Given the description of an element on the screen output the (x, y) to click on. 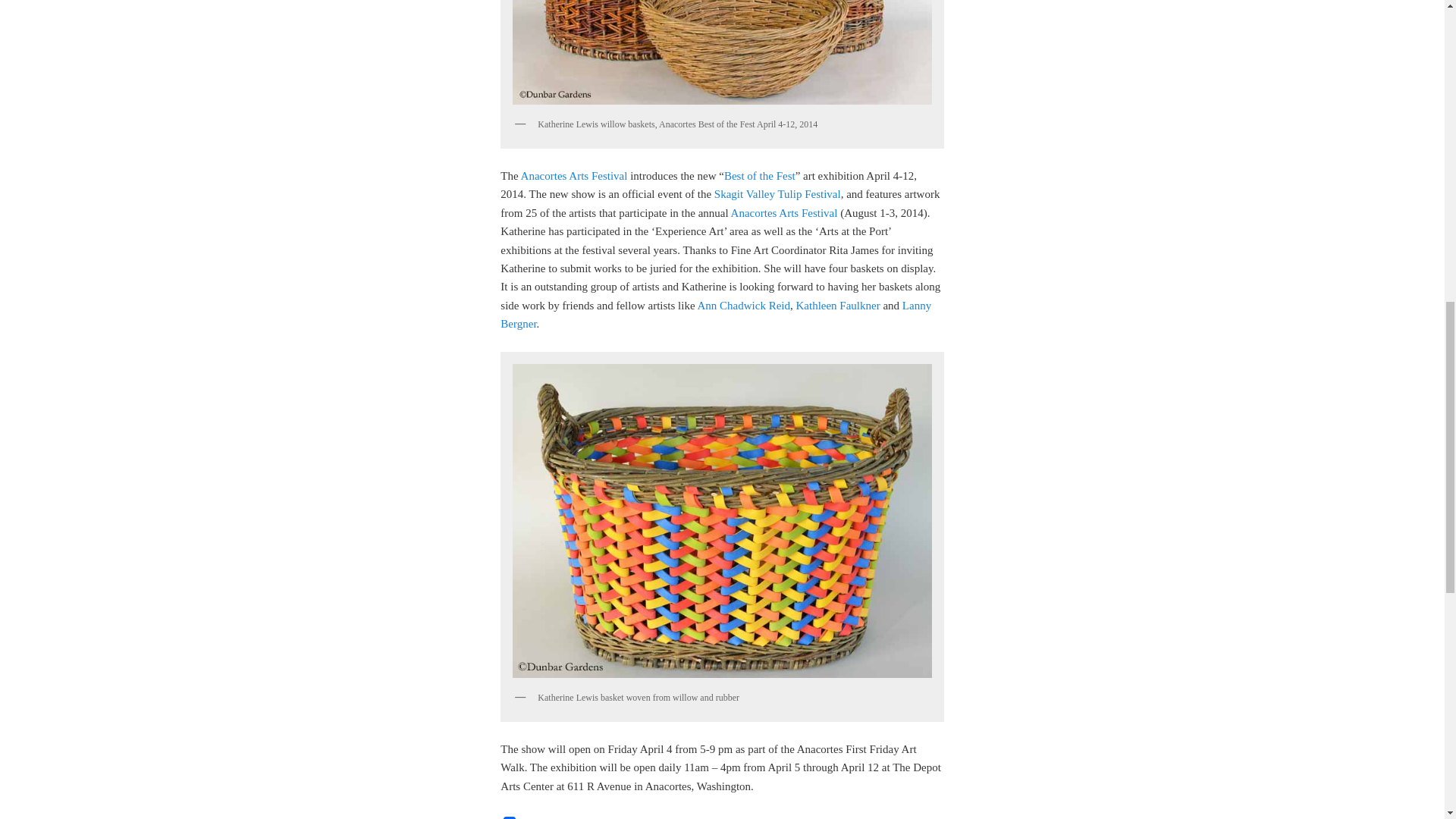
Best of the Fest (758, 175)
Ann Chadwick Reid (743, 305)
Anacortes Arts Festival (574, 175)
Anacortes Arts Festival (784, 213)
Skagit Valley Tulip Festival (777, 193)
Lanny Bergner (715, 314)
Kathleen Faulkner (836, 305)
